Given the description of an element on the screen output the (x, y) to click on. 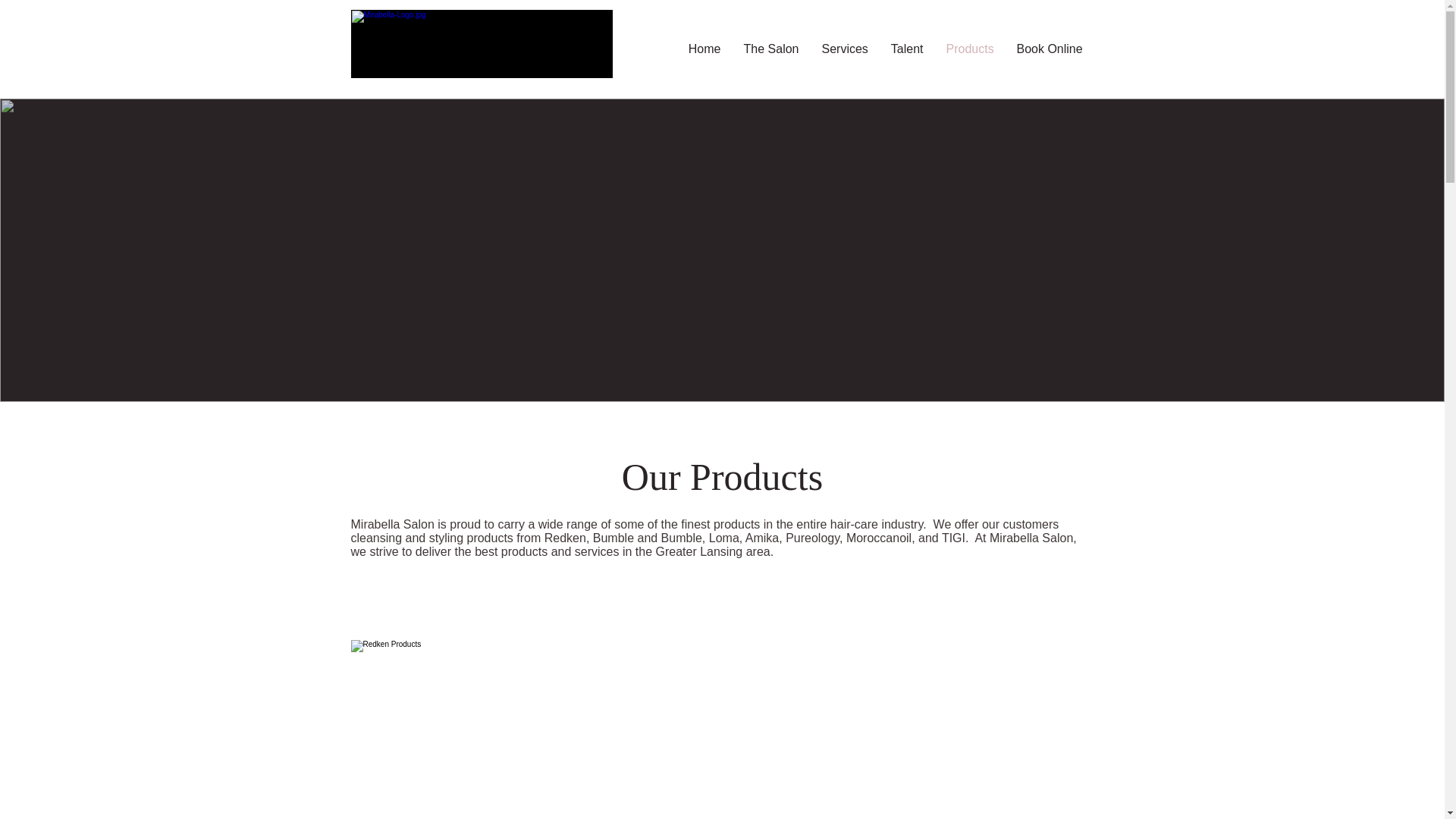
Services (844, 48)
Home (704, 48)
The Salon (771, 48)
Talent (906, 48)
Book Online (1050, 48)
Products (969, 48)
